Given the description of an element on the screen output the (x, y) to click on. 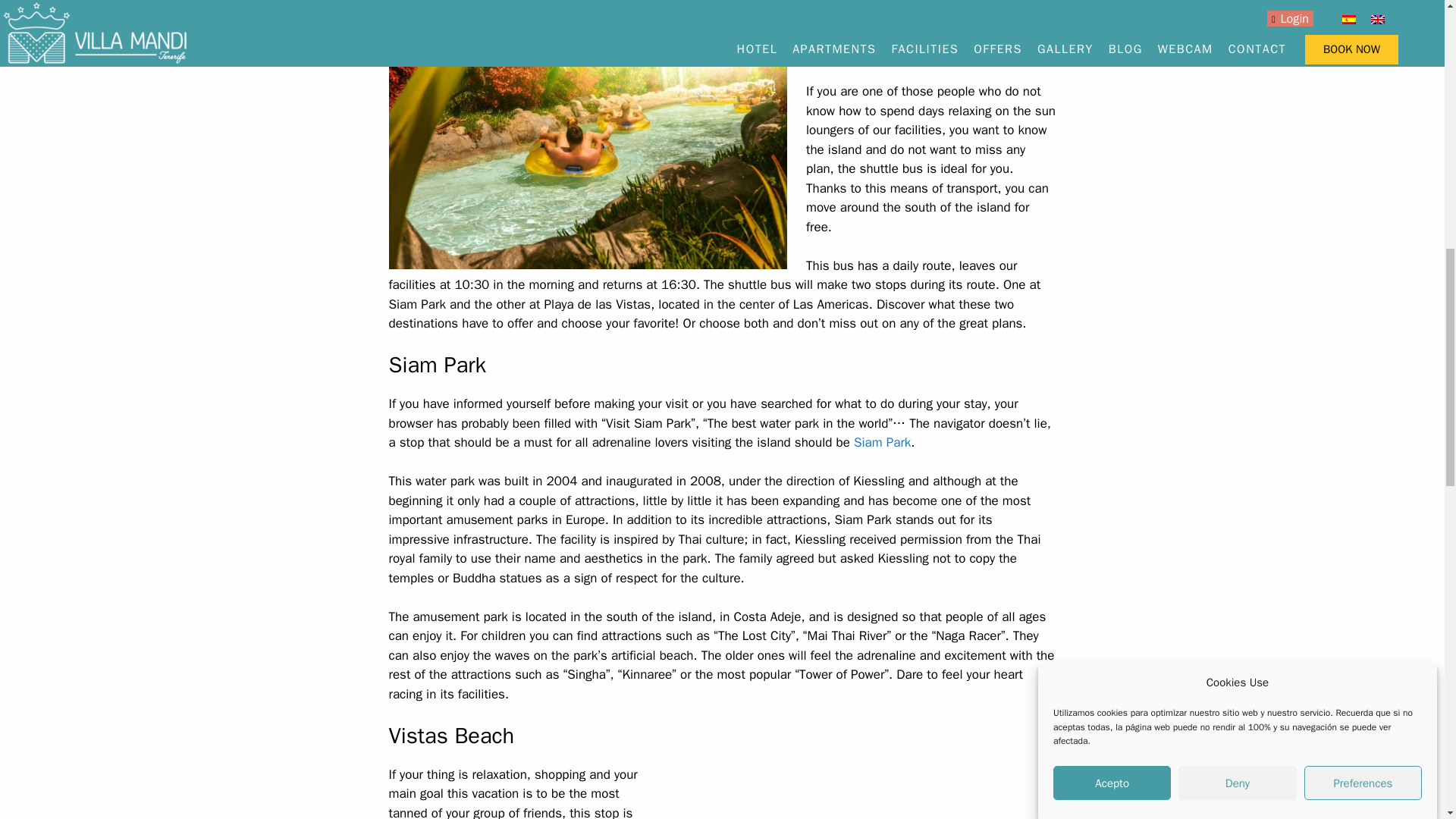
Deny (1236, 163)
Preferences (1363, 137)
Acepto (1111, 205)
